Given the description of an element on the screen output the (x, y) to click on. 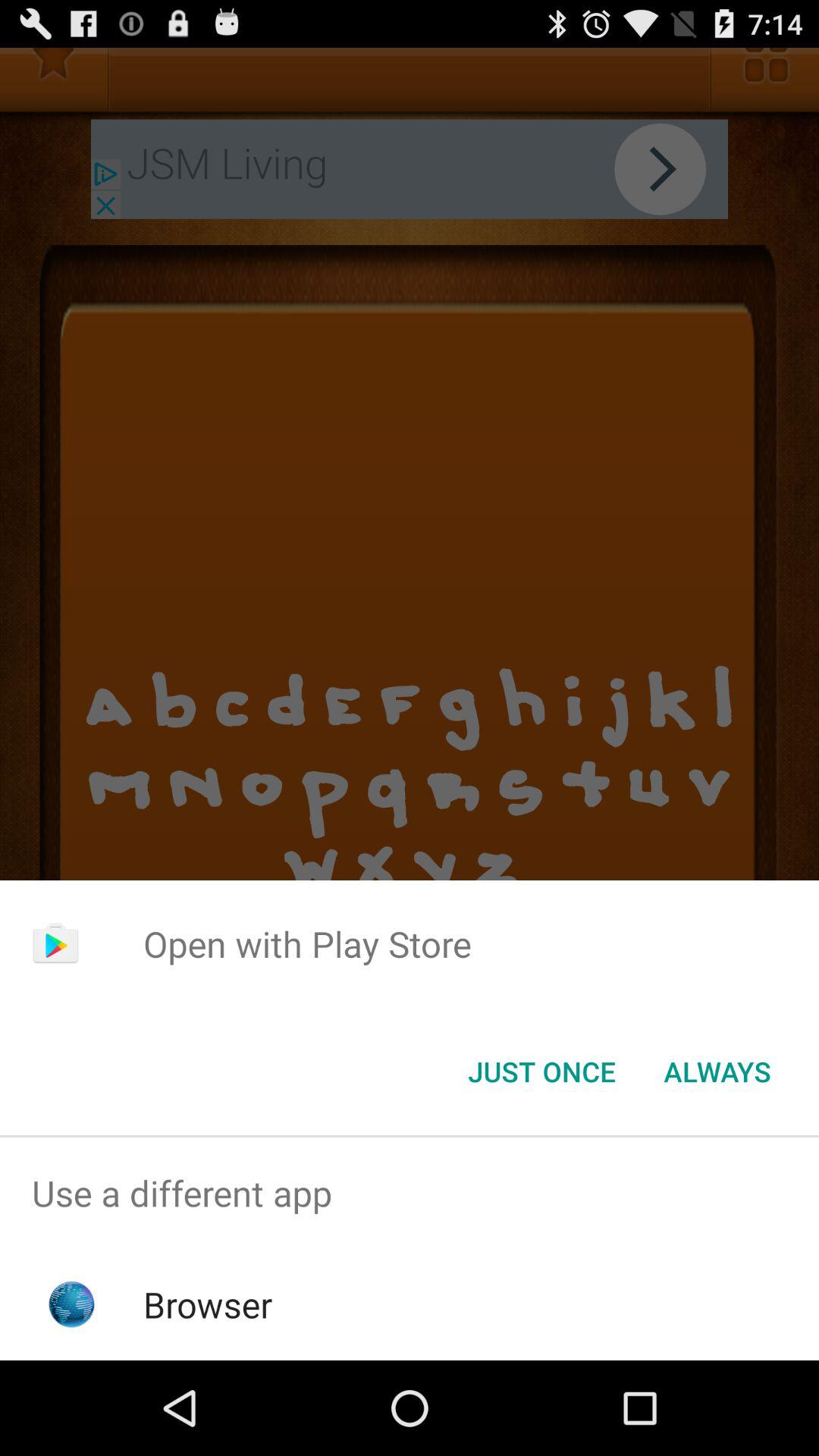
open always at the bottom right corner (717, 1071)
